Given the description of an element on the screen output the (x, y) to click on. 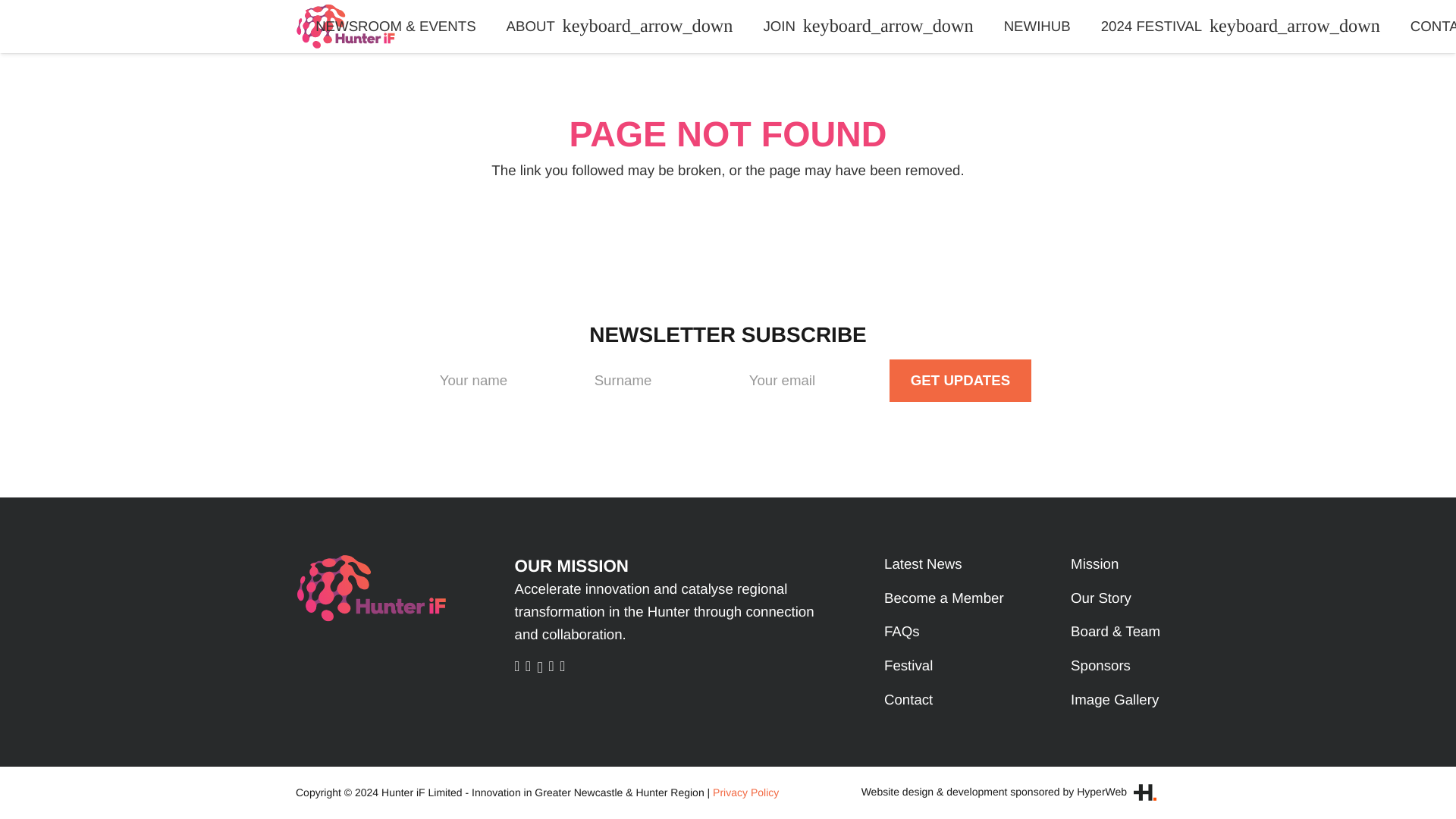
FAQs (901, 631)
Privacy Policy (745, 792)
Contact (908, 699)
Festival (908, 665)
Our Story (1100, 597)
Sponsors (1100, 665)
ABOUT (620, 26)
2024 FESTIVAL (1240, 26)
Get updates (959, 380)
JOIN (868, 26)
Latest News (922, 563)
Get updates (959, 380)
NEWIHUB (1037, 26)
Become a Member (943, 597)
